Given the description of an element on the screen output the (x, y) to click on. 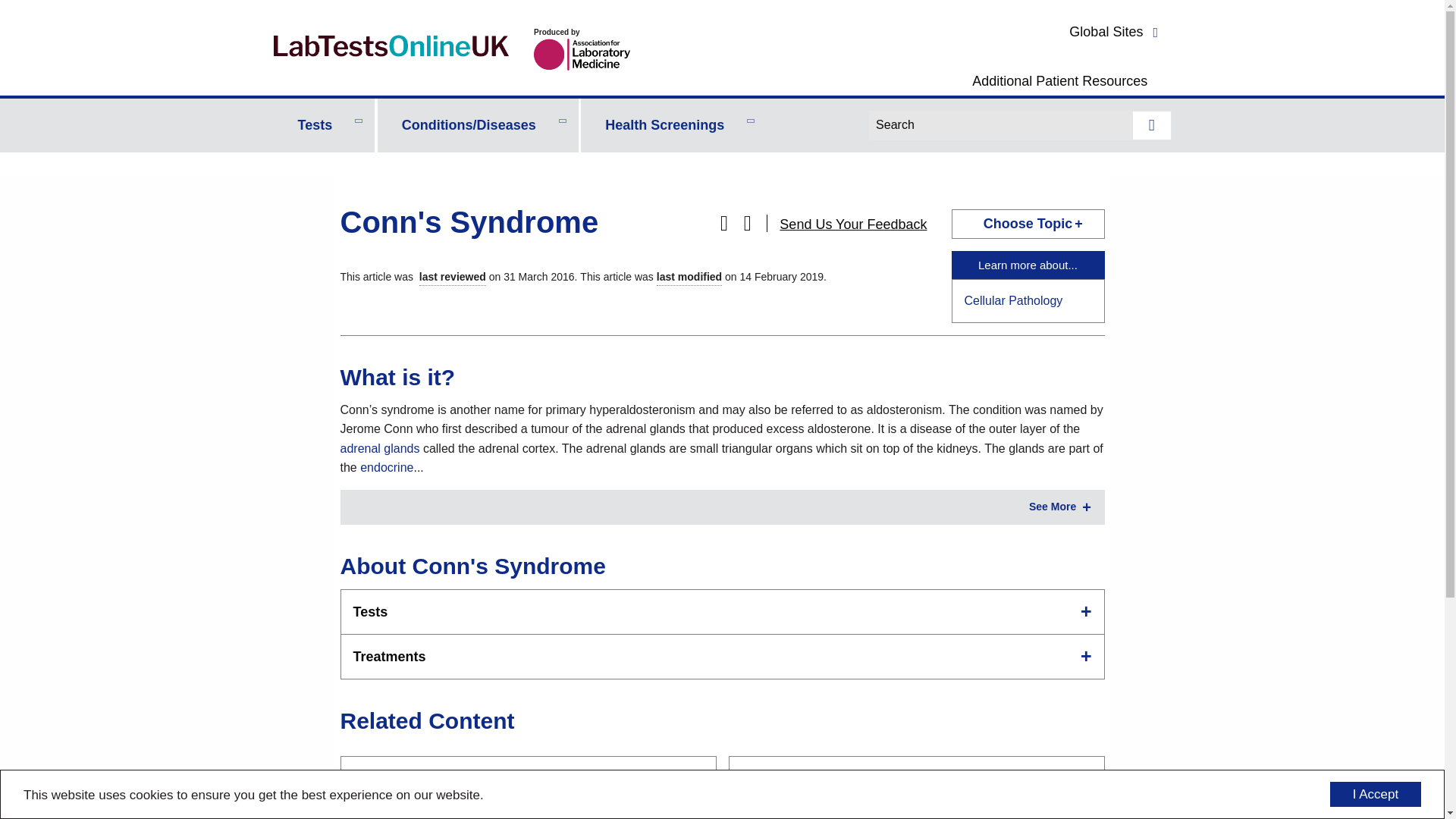
adrenal glands (379, 448)
Additional Patient Resources (1059, 80)
Global Sites   (1116, 31)
endocrine (386, 467)
Tests (323, 125)
Overview (721, 438)
